Given the description of an element on the screen output the (x, y) to click on. 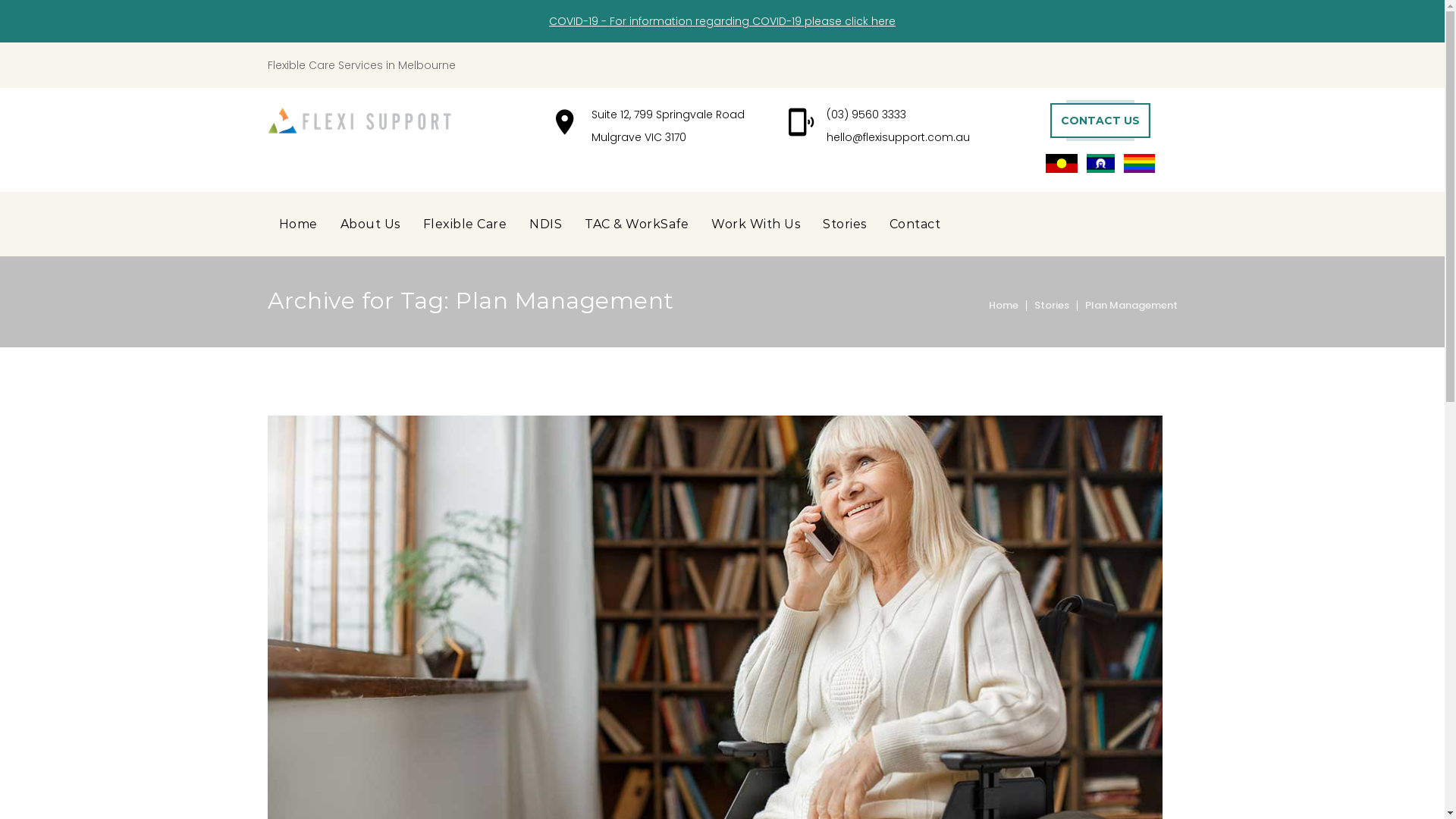
TAC & WorkSafe Element type: text (636, 223)
Home Element type: text (1003, 305)
NDIS Element type: text (545, 223)
Flexi Support Element type: hover (358, 120)
Home Element type: text (297, 223)
hello@flexisupport.com.au Element type: text (897, 136)
Plan Management Element type: text (1130, 305)
Stories Element type: text (1051, 305)
Flexible Care Element type: text (464, 223)
About Us Element type: text (370, 223)
(03) 9560 3333 Element type: text (866, 114)
Work With Us Element type: text (755, 223)
CONTACT US Element type: text (1099, 120)
Contact Element type: text (915, 223)
Stories Element type: text (844, 223)
